Given the description of an element on the screen output the (x, y) to click on. 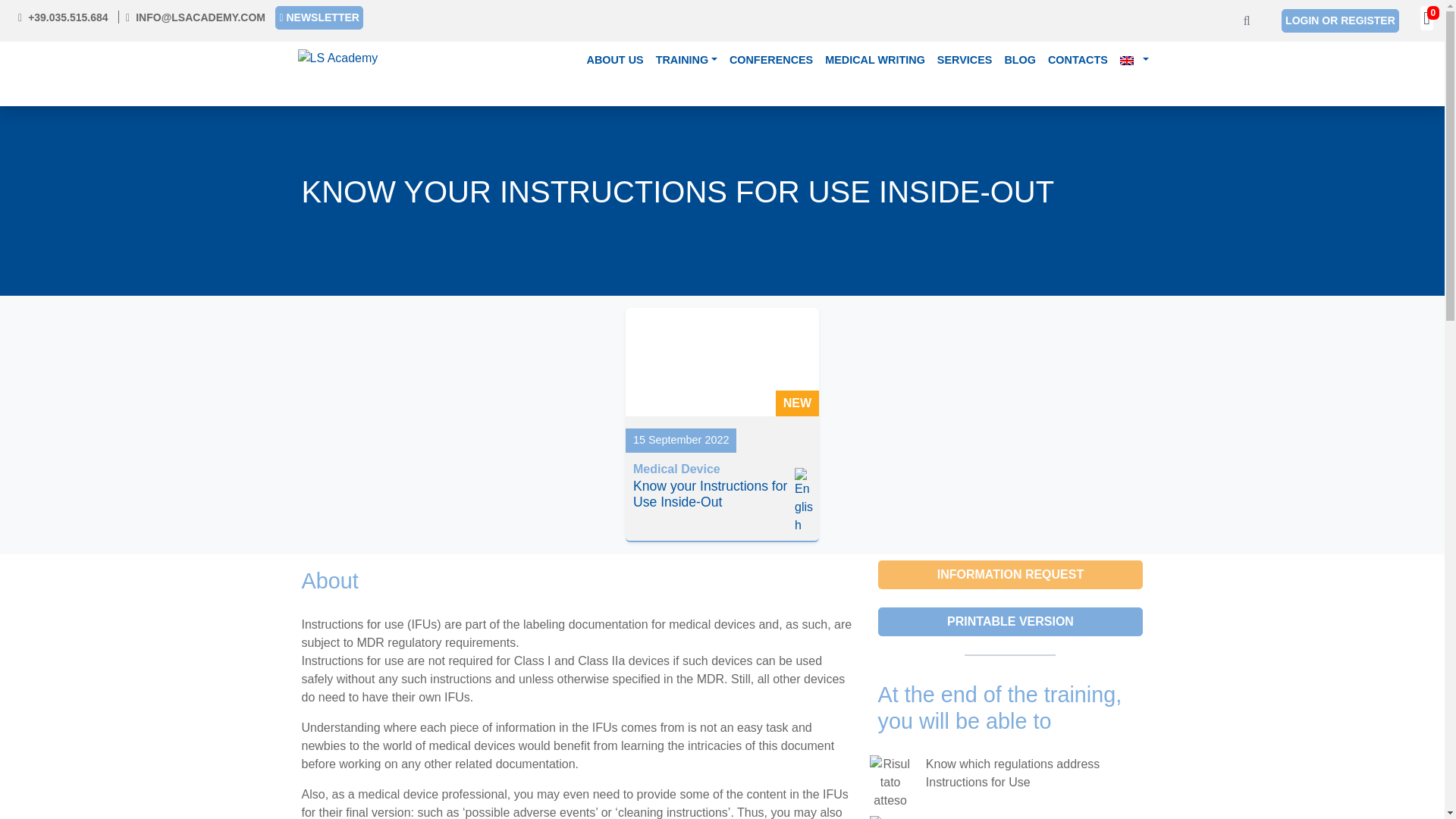
0 (1426, 19)
MEDICAL WRITING (874, 60)
ABOUT US (614, 60)
 NEWSLETTER (318, 17)
BLOG (1019, 60)
TRAINING (686, 60)
CONTACTS (1077, 60)
INFORMATION REQUEST (1009, 574)
LOGIN OR REGISTER (1340, 20)
SERVICES (964, 60)
CONFERENCES (770, 60)
PRINTABLE VERSION (1009, 621)
